Given the description of an element on the screen output the (x, y) to click on. 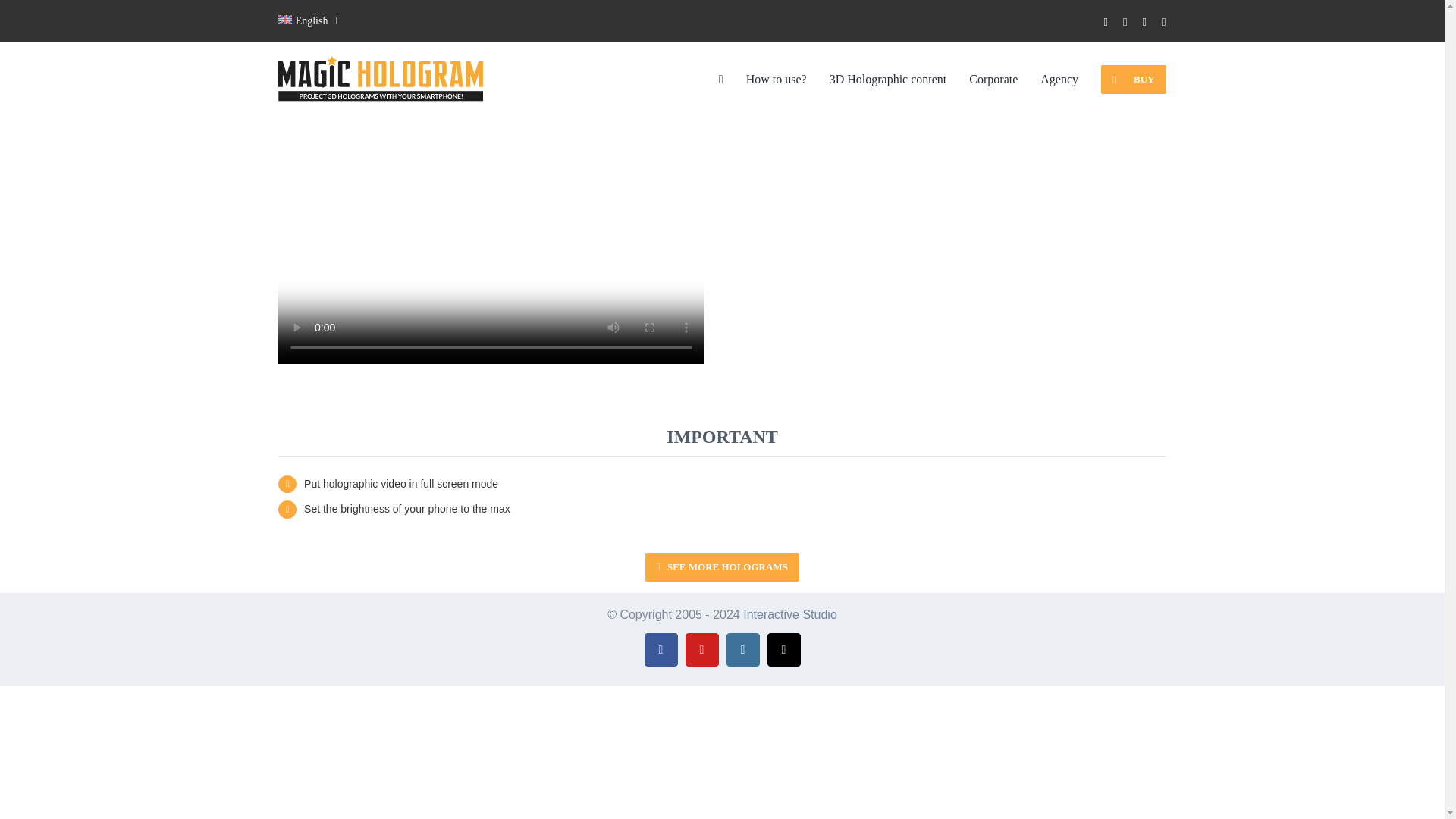
YouTube (702, 649)
Interactive Studio (789, 614)
Instagram (743, 649)
English (307, 21)
English (307, 21)
X (783, 649)
How to use? (775, 79)
BUY (1133, 79)
SEE MORE HOLOGRAMS (722, 566)
Facebook (661, 649)
Corporate (993, 79)
3D Holographic content (888, 79)
Agency (1059, 79)
